Given the description of an element on the screen output the (x, y) to click on. 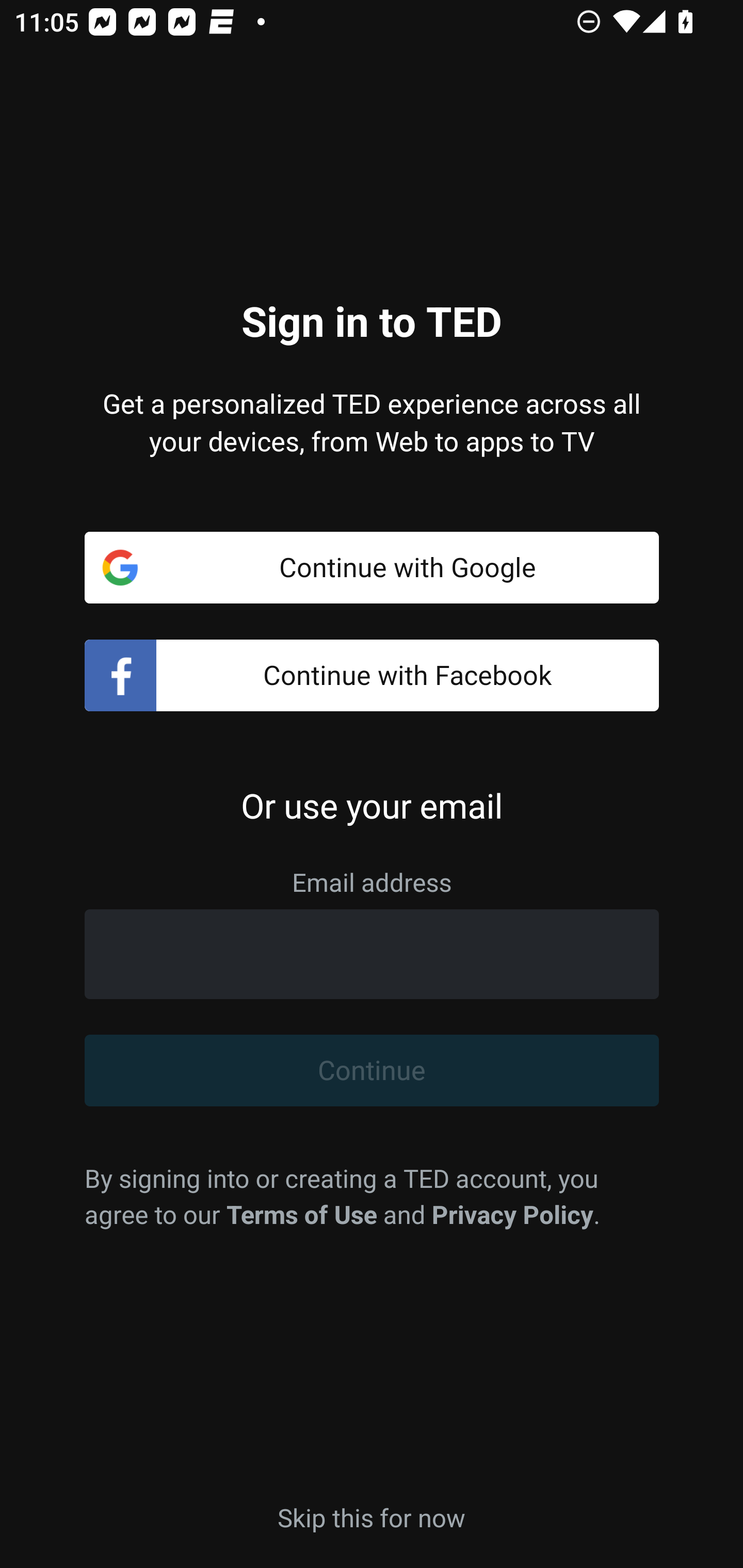
Continue with Google (371, 567)
Continue with Facebook (371, 675)
Continue (371, 1070)
Skip this for now (371, 1516)
